Given the description of an element on the screen output the (x, y) to click on. 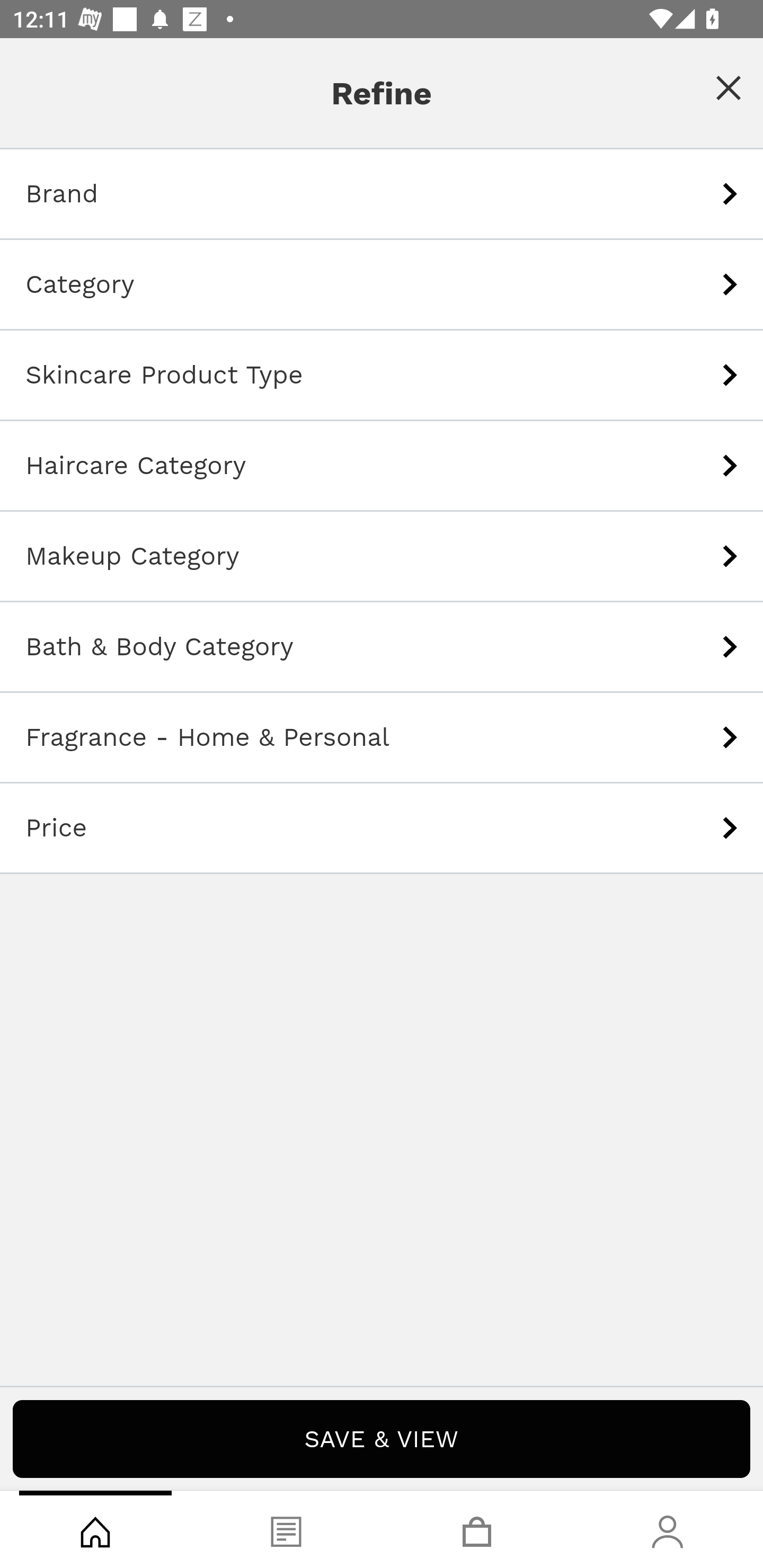
Lookfantastic USA (381, 75)
Shop, tab, 1 of 4 (95, 1529)
Blog, tab, 2 of 4 (285, 1529)
Basket, tab, 3 of 4 (476, 1529)
Account, tab, 4 of 4 (667, 1529)
